Given the description of an element on the screen output the (x, y) to click on. 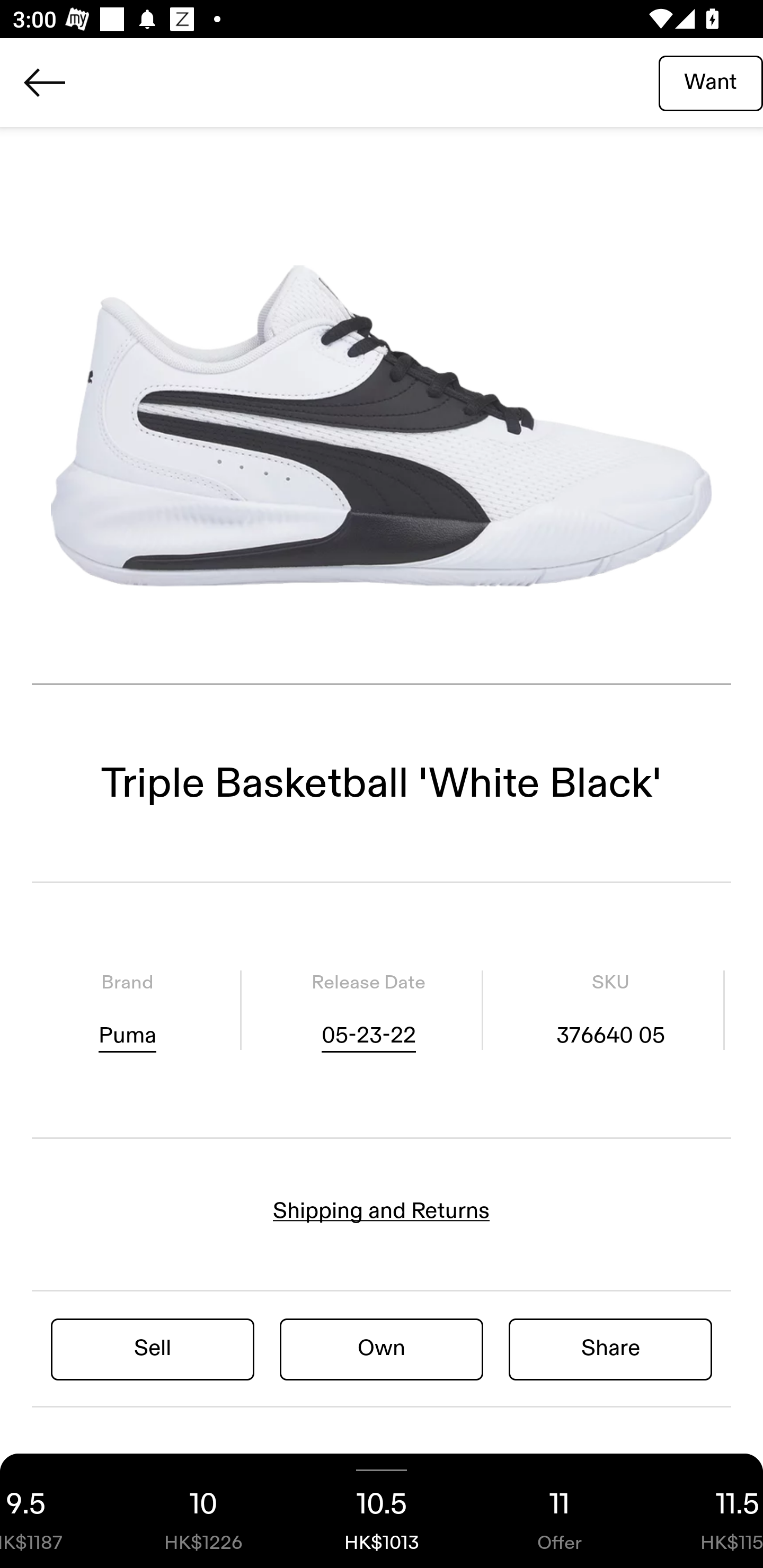
Want (710, 82)
Brand Puma (126, 1009)
Release Date 05-23-22 (368, 1009)
SKU 376640 05 (609, 1009)
Shipping and Returns (381, 1211)
Sell (152, 1348)
Own (381, 1348)
Share (609, 1348)
9.5 HK$1187 (57, 1510)
10 HK$1226 (203, 1510)
10.5 HK$1013 (381, 1510)
11 Offer (559, 1510)
11.5 HK$1155 (705, 1510)
